Given the description of an element on the screen output the (x, y) to click on. 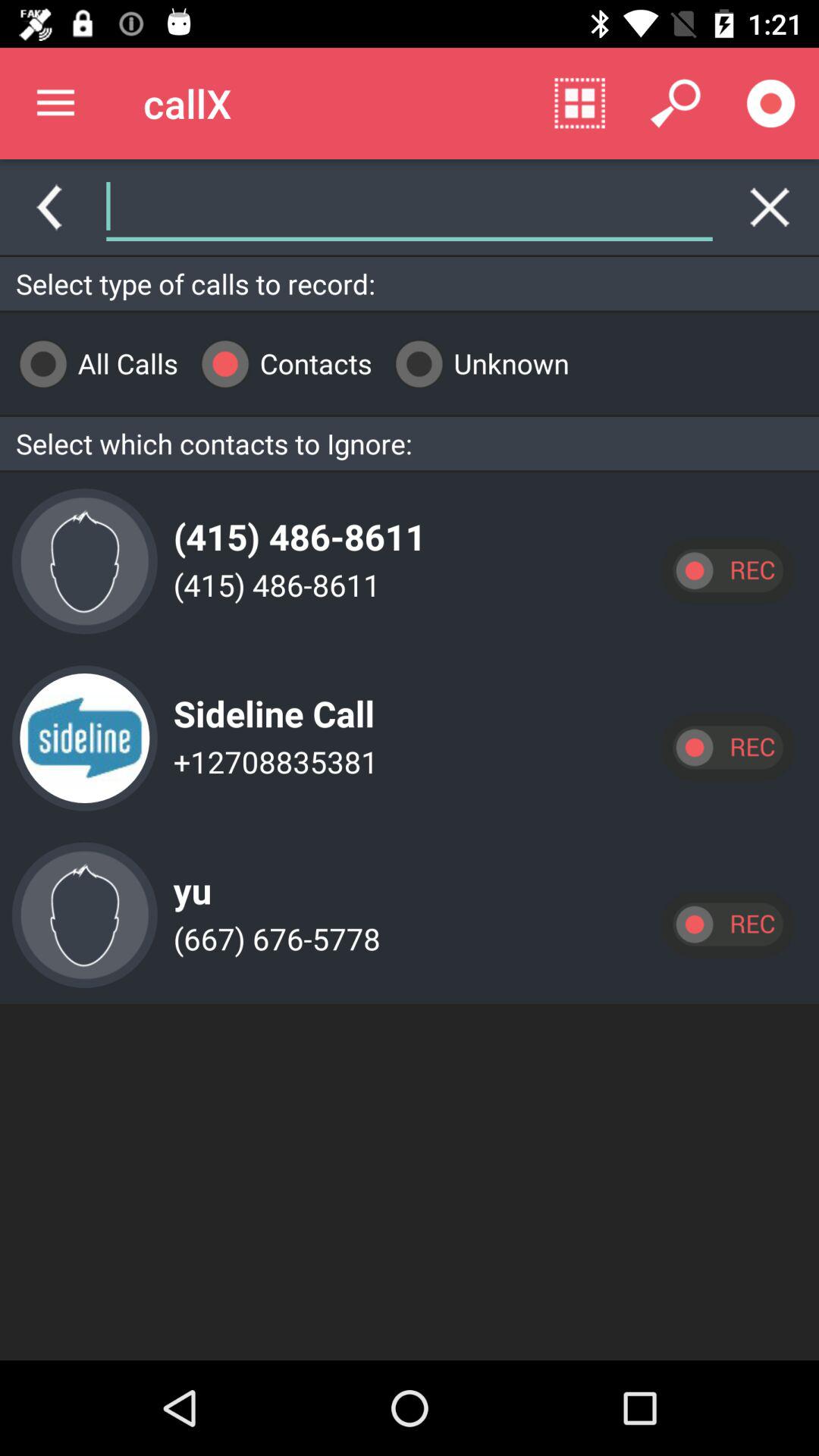
jump to the yu item (188, 878)
